Given the description of an element on the screen output the (x, y) to click on. 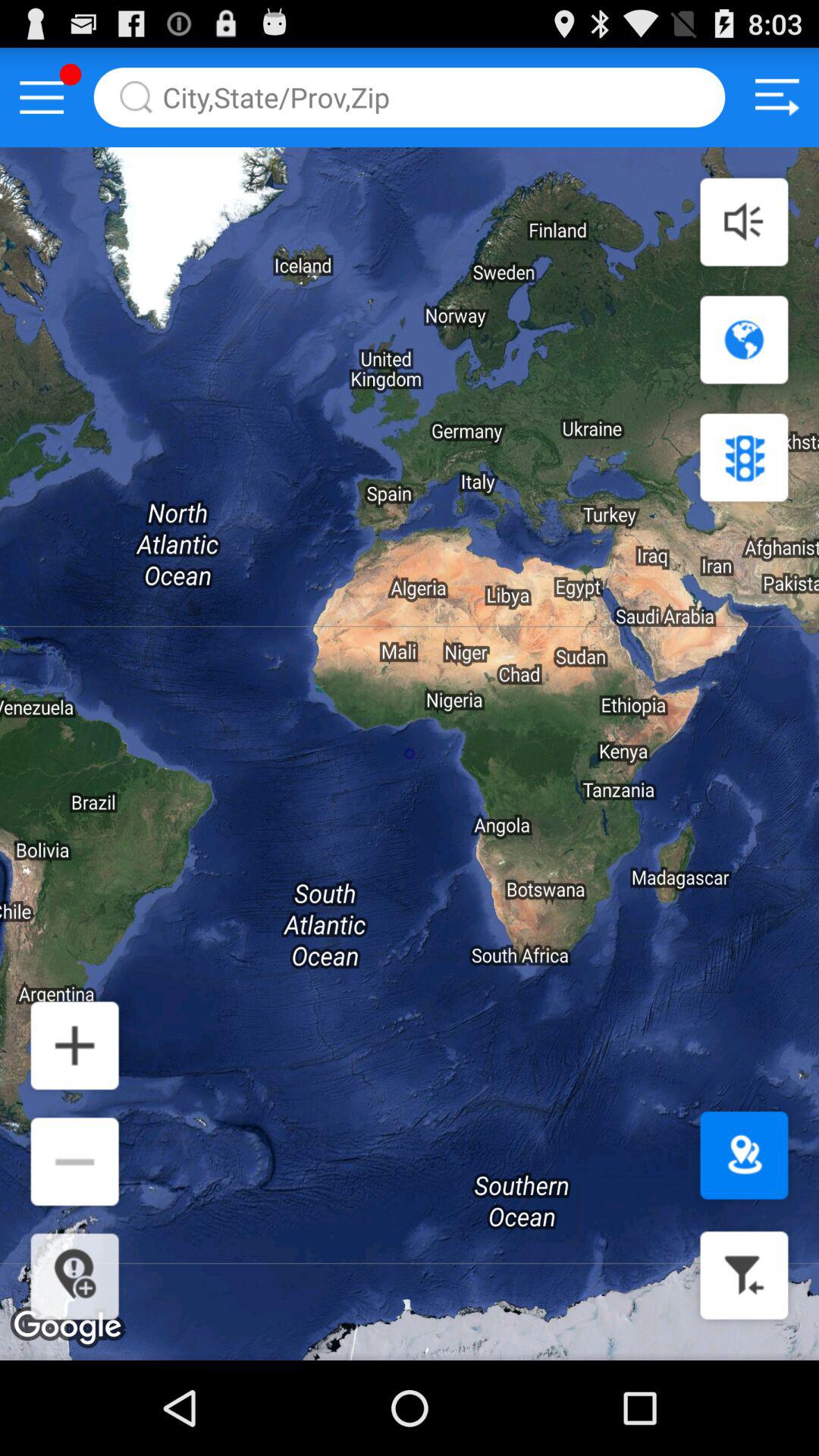
input location (409, 97)
